Given the description of an element on the screen output the (x, y) to click on. 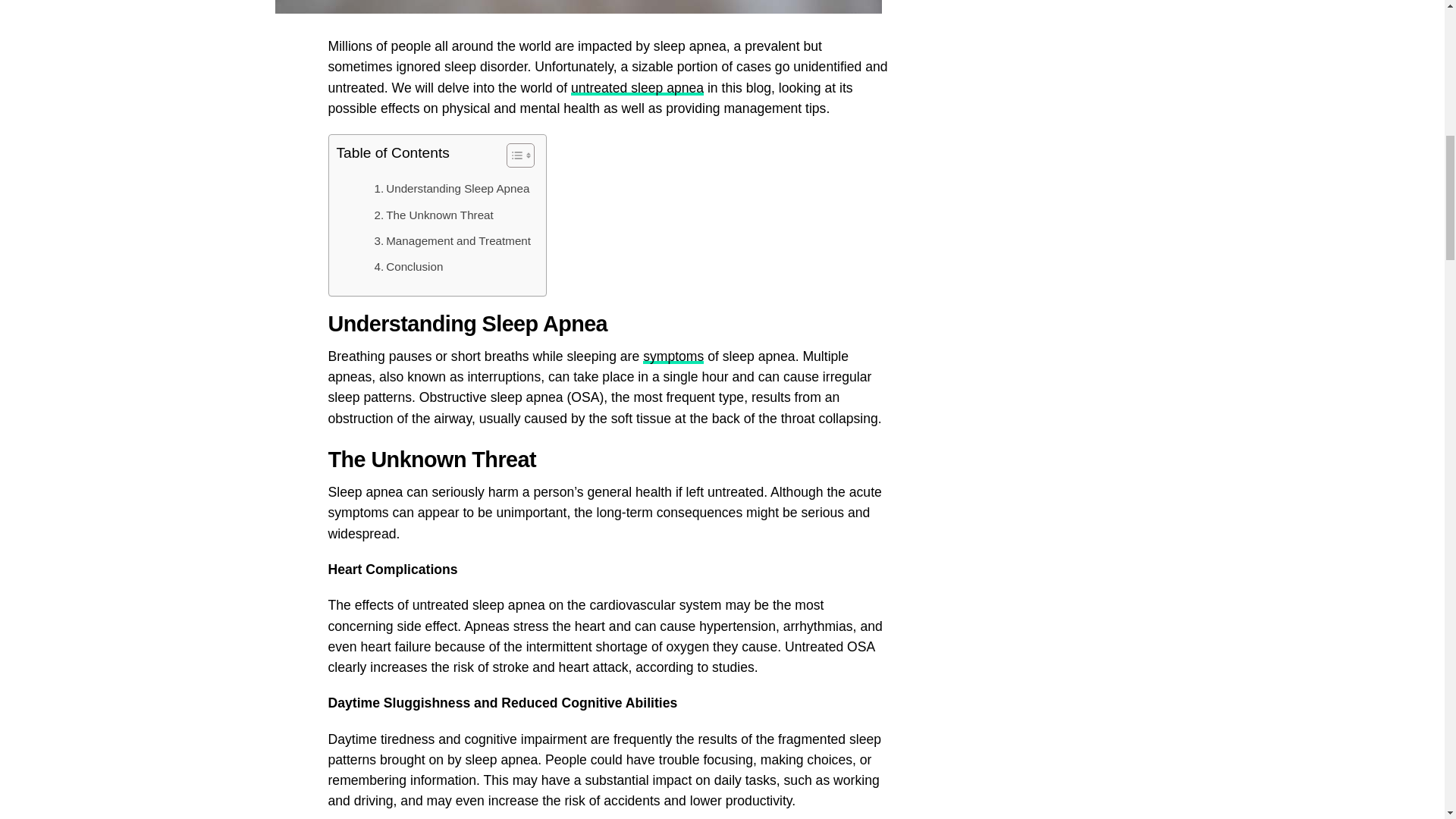
Management and Treatment (452, 240)
Conclusion (409, 266)
Understanding Sleep Apnea (451, 188)
The Unknown Threat (433, 215)
